Given the description of an element on the screen output the (x, y) to click on. 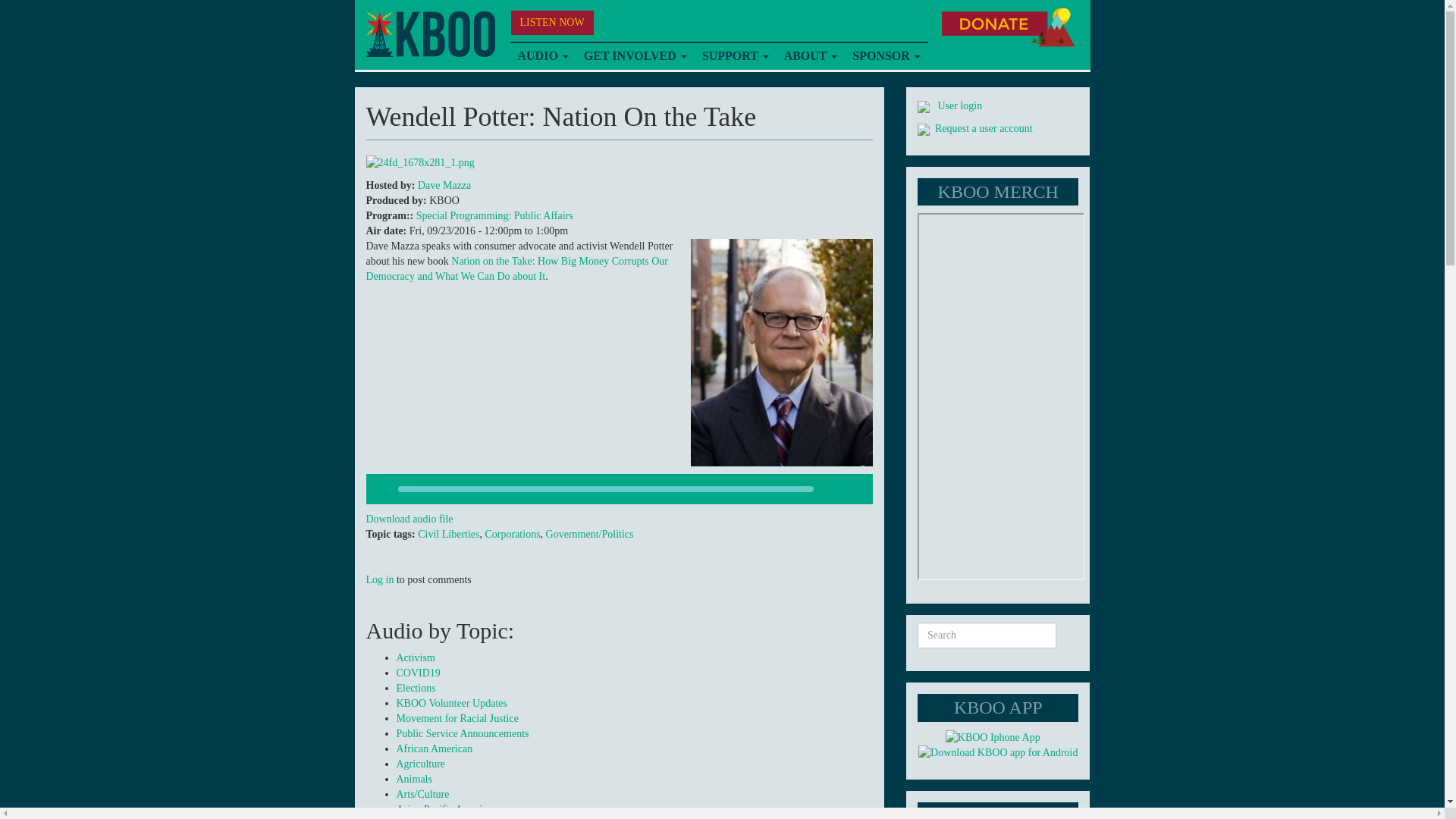
SPONSOR (886, 55)
GET INVOLVED (635, 55)
AUDIO (542, 55)
SUPPORT (735, 55)
LISTEN NOW (551, 22)
Home (430, 34)
ABOUT (810, 55)
